Given the description of an element on the screen output the (x, y) to click on. 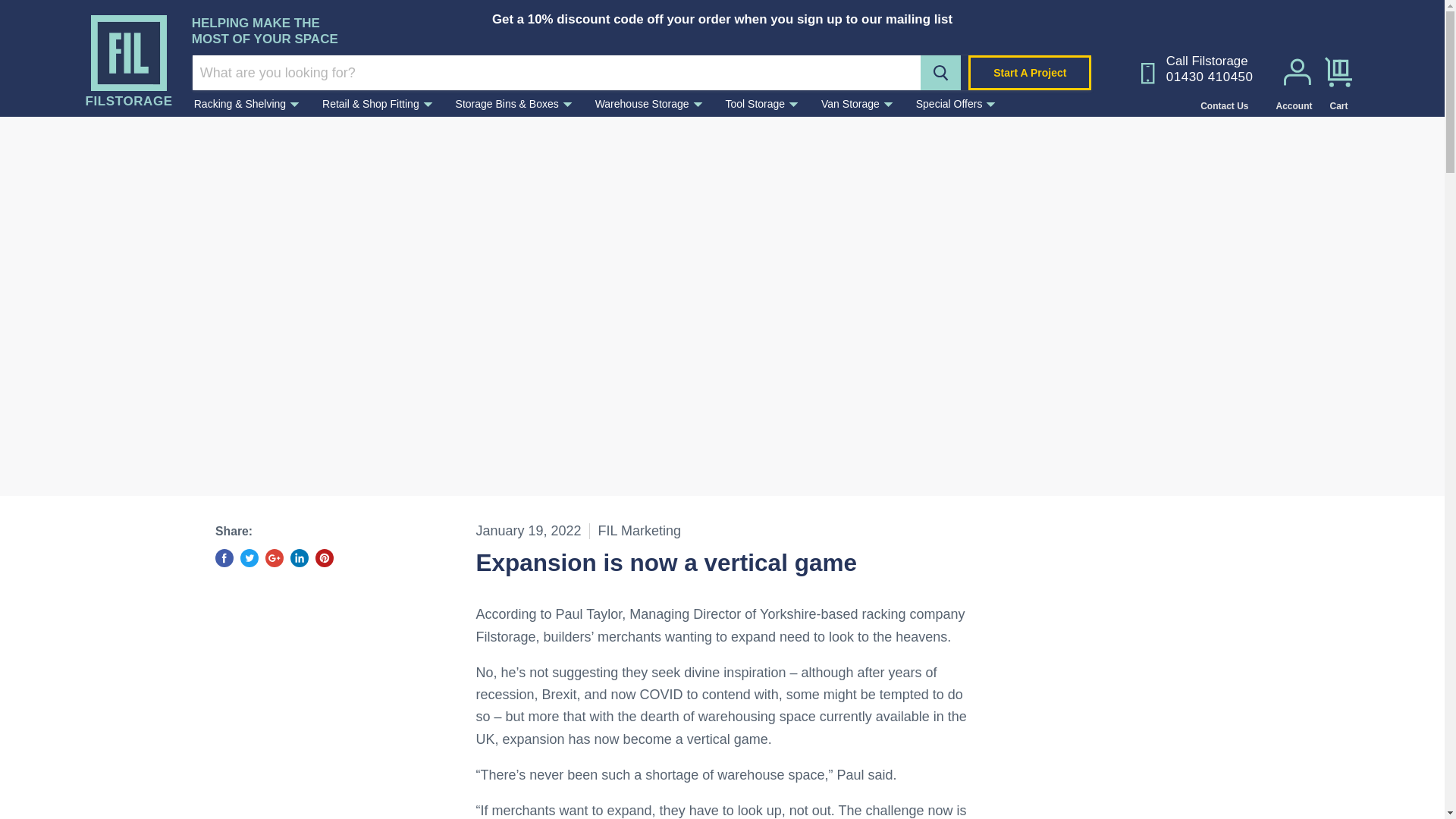
Start A Project (1029, 72)
